Given the description of an element on the screen output the (x, y) to click on. 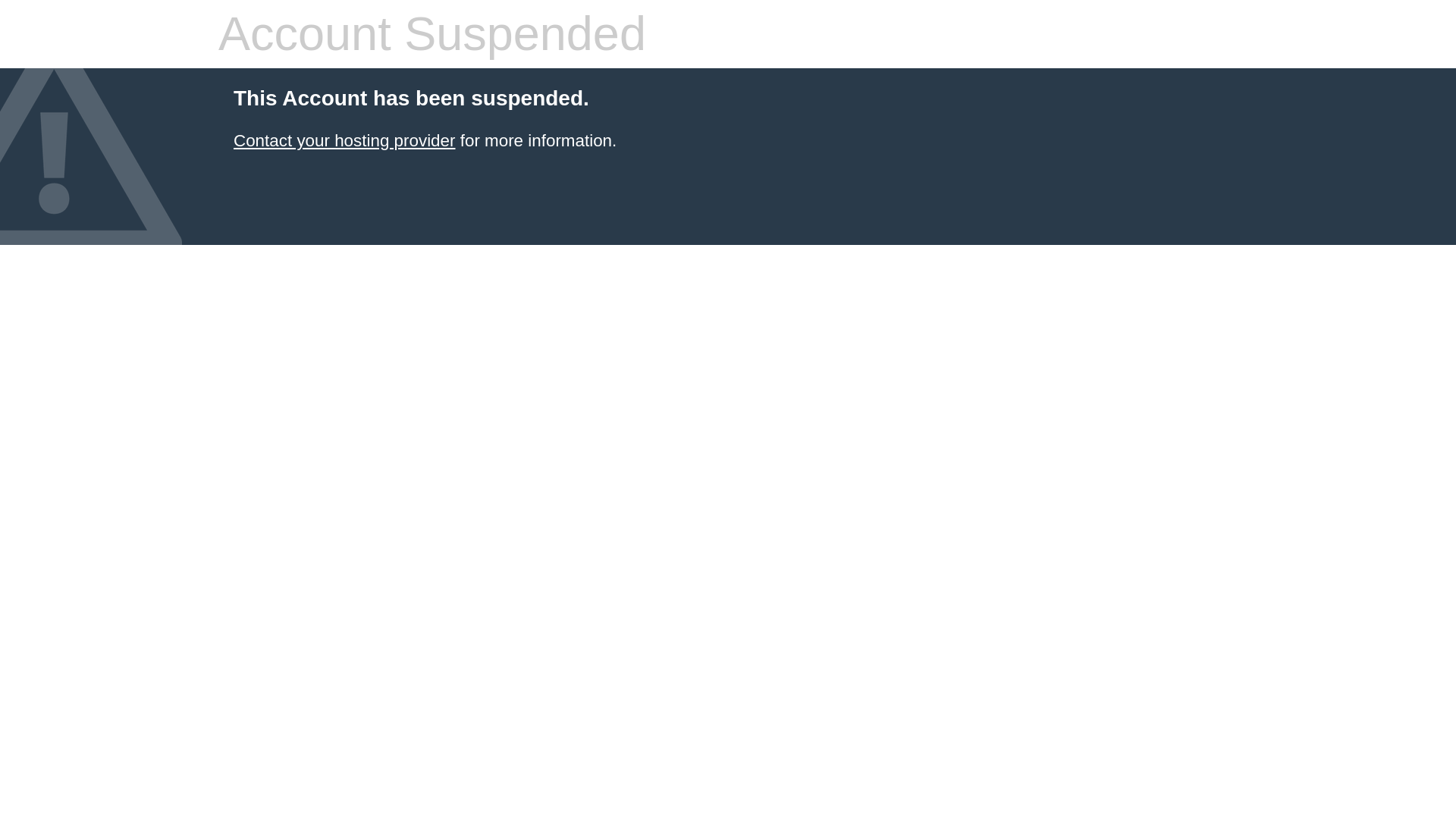
Contact your hosting provider (343, 140)
